Given the description of an element on the screen output the (x, y) to click on. 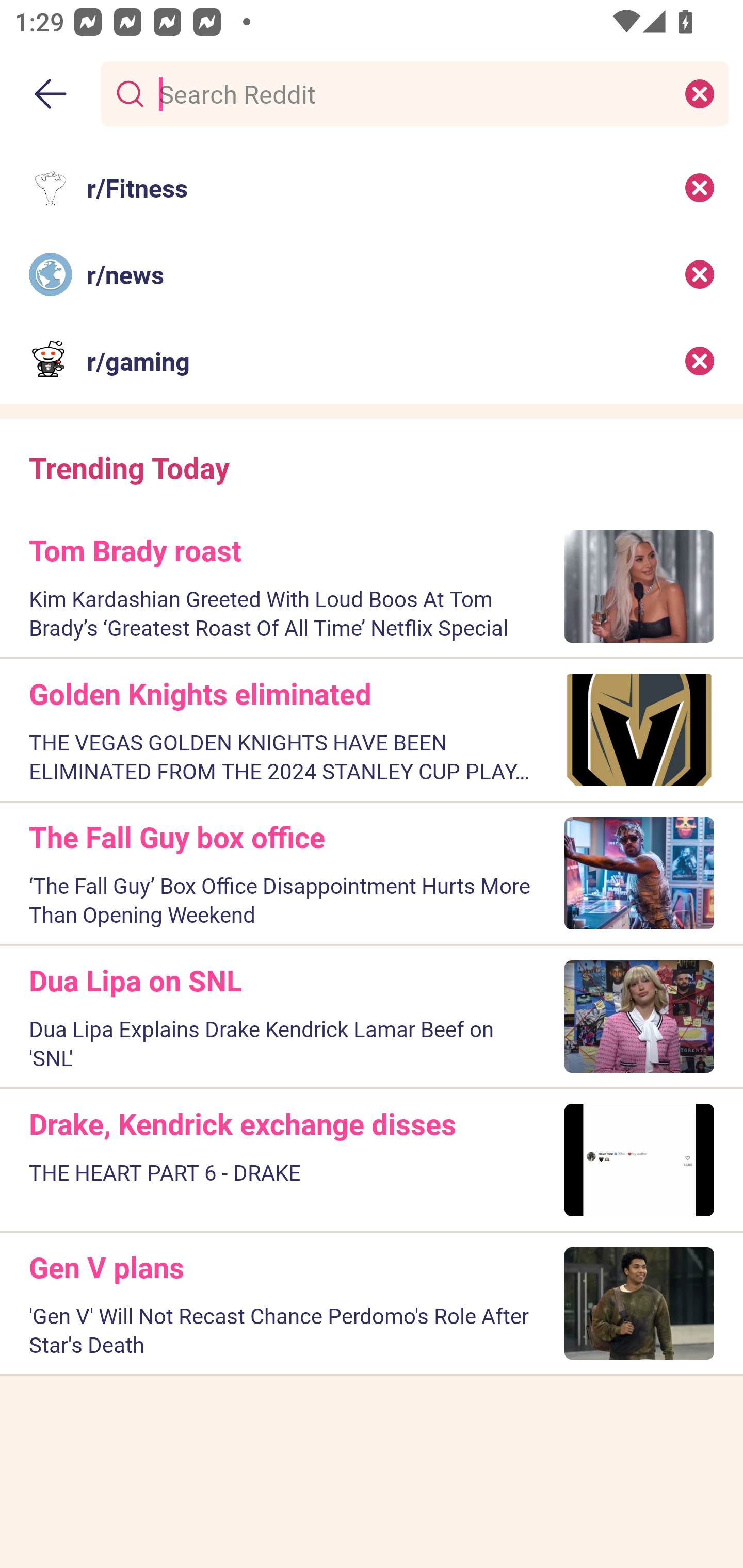
Back (50, 93)
Search Reddit (410, 93)
Clear search (699, 93)
r/Fitness Recent search: r/Fitness Remove (371, 187)
Remove (699, 187)
r/news Recent search: r/news Remove (371, 274)
Remove (699, 274)
r/gaming Recent search: r/gaming Remove (371, 361)
Remove (699, 361)
